Given the description of an element on the screen output the (x, y) to click on. 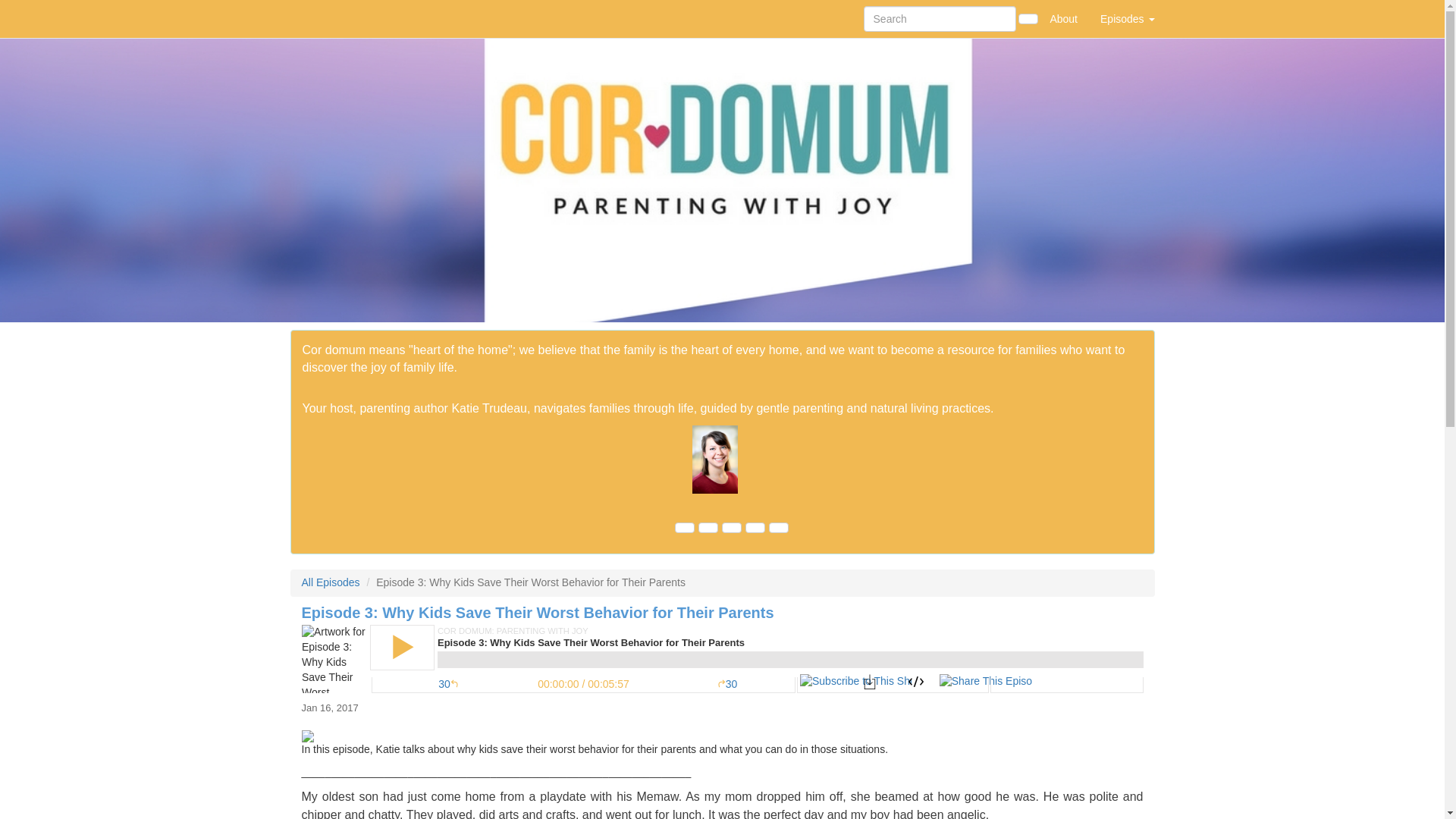
Home Page (320, 18)
All Episodes (330, 582)
About (1063, 18)
Episodes (1127, 18)
